Given the description of an element on the screen output the (x, y) to click on. 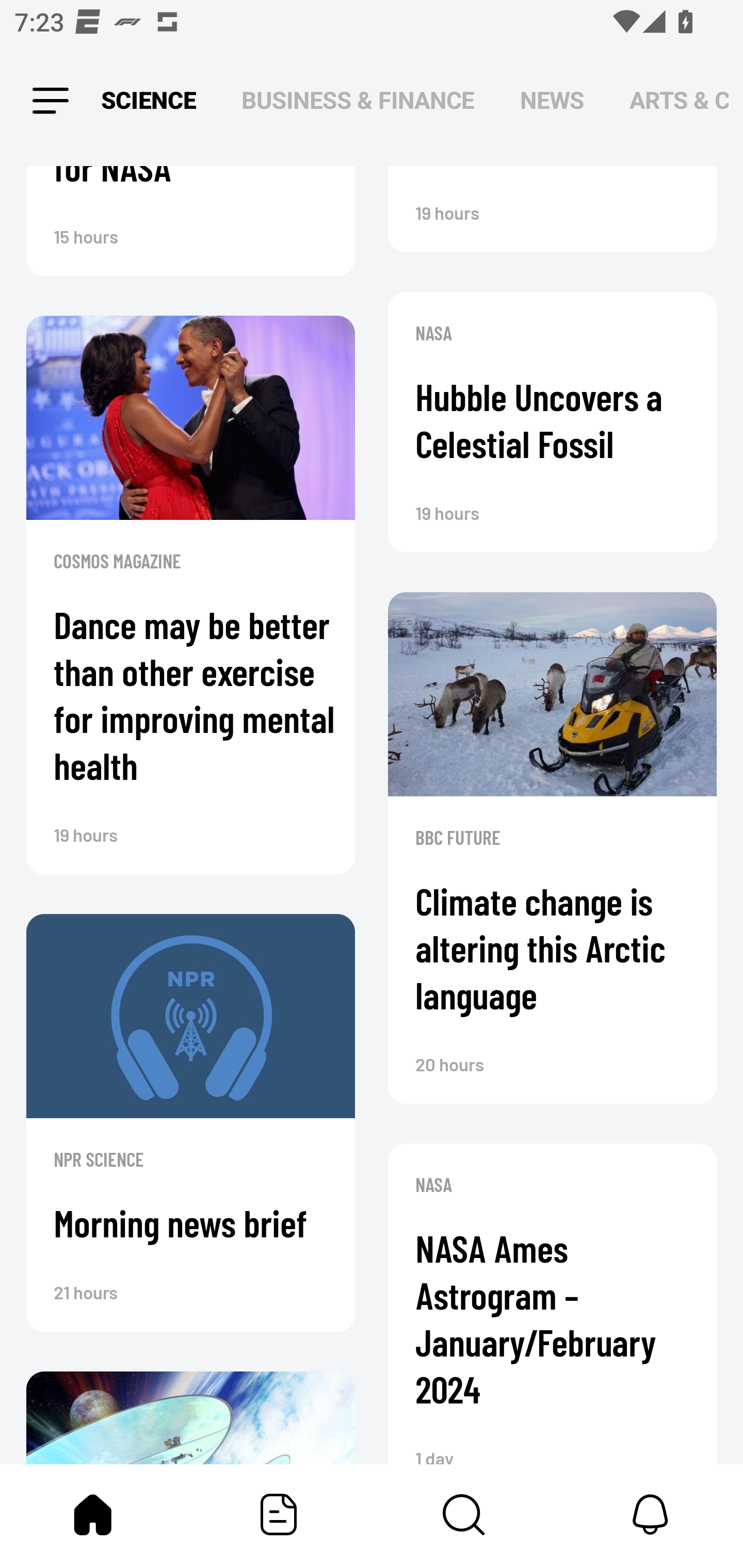
Leading Icon (50, 101)
BUSINESS & FINANCE (357, 100)
NEWS (551, 100)
ARTS & CULTURE (678, 100)
Featured (278, 1514)
Content Store (464, 1514)
Notifications (650, 1514)
